Given the description of an element on the screen output the (x, y) to click on. 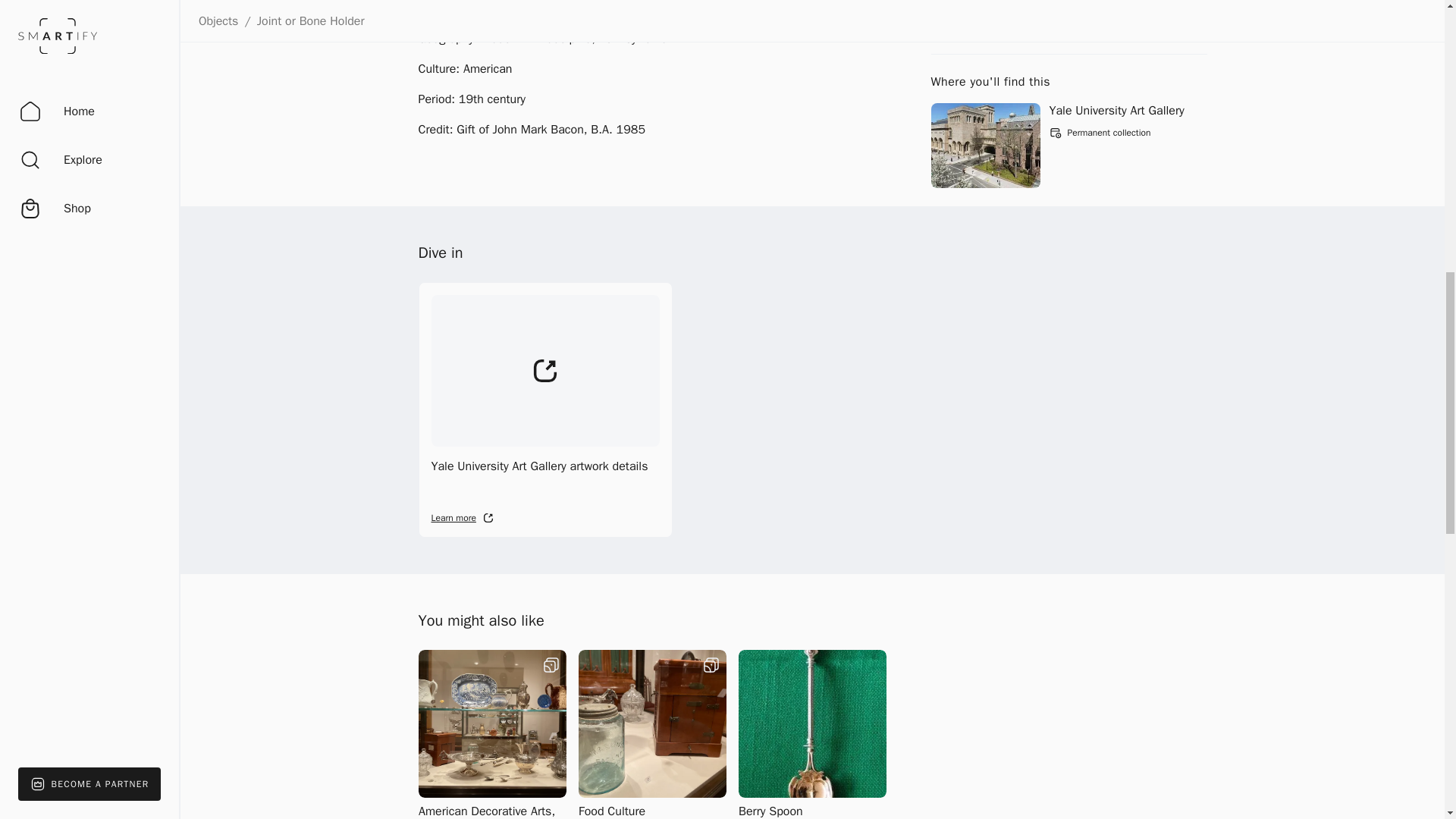
Yale University Art Gallery artwork details (545, 409)
Yale University Art Gallery (1117, 110)
